Given the description of an element on the screen output the (x, y) to click on. 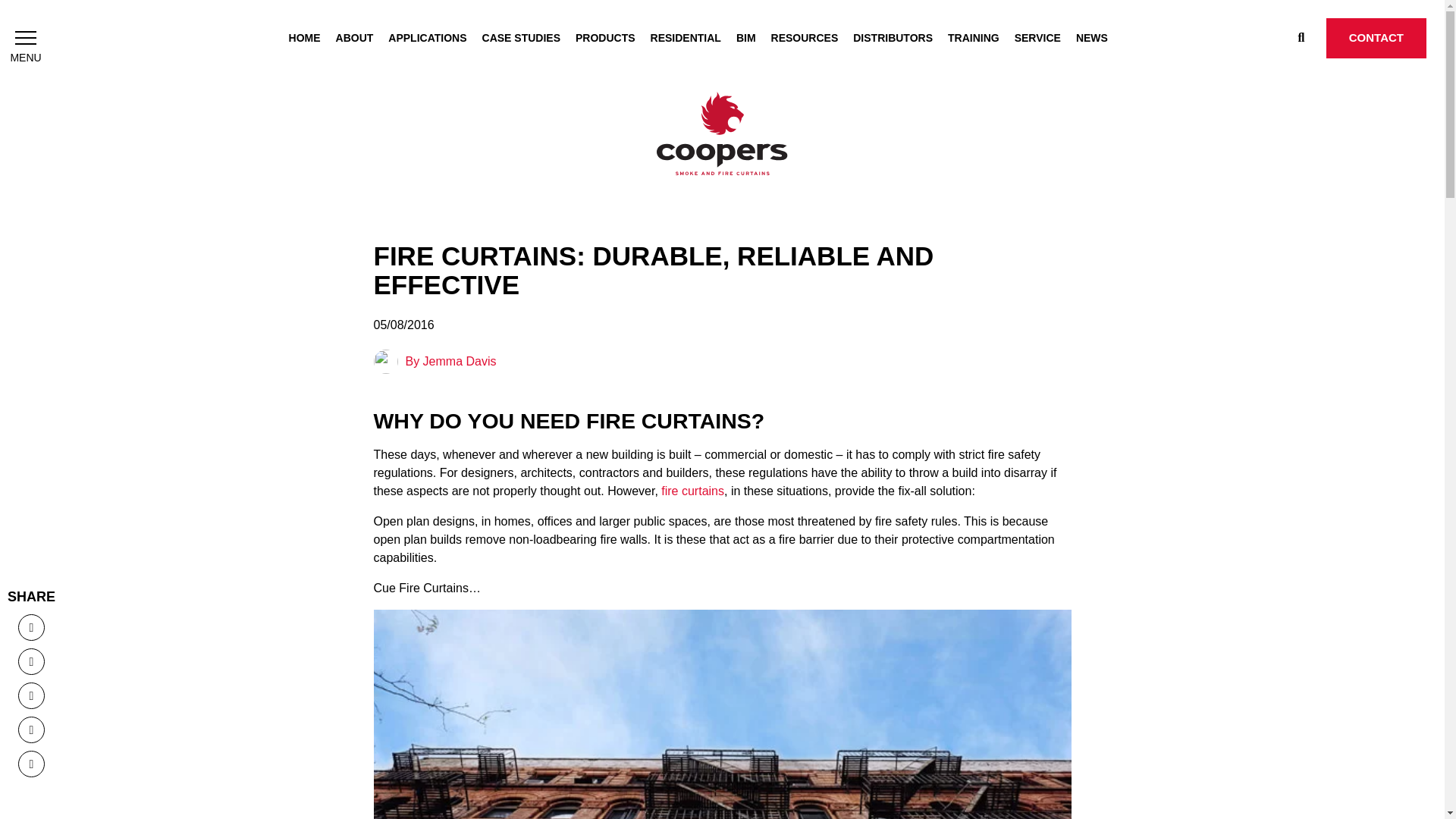
BIM (745, 37)
SERVICE (1037, 37)
HOME (304, 37)
RESIDENTIAL (685, 37)
TRAINING (972, 37)
CASE STUDIES (520, 37)
DISTRIBUTORS (893, 37)
RESOURCES (804, 37)
APPLICATIONS (426, 37)
ABOUT (355, 37)
